Given the description of an element on the screen output the (x, y) to click on. 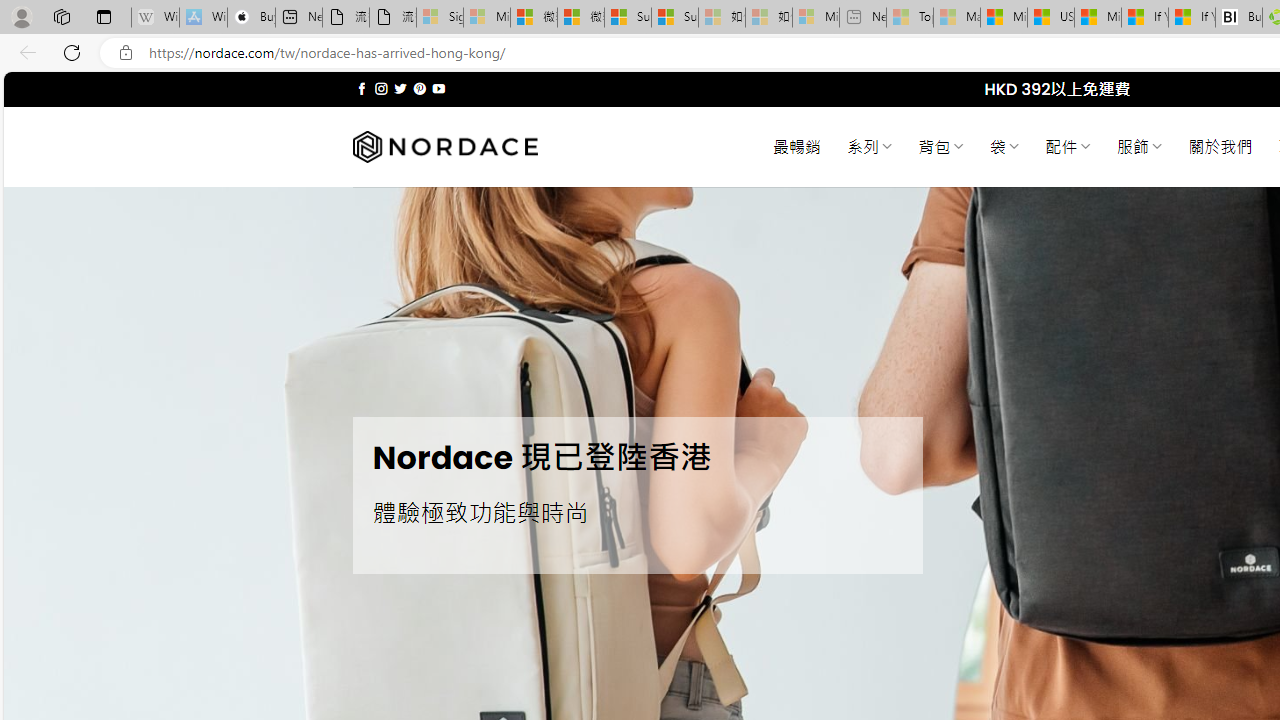
US Heat Deaths Soared To Record High Last Year (1050, 17)
Follow on YouTube (438, 88)
Sign in to your Microsoft account - Sleeping (440, 17)
Wikipedia - Sleeping (155, 17)
